Given the description of an element on the screen output the (x, y) to click on. 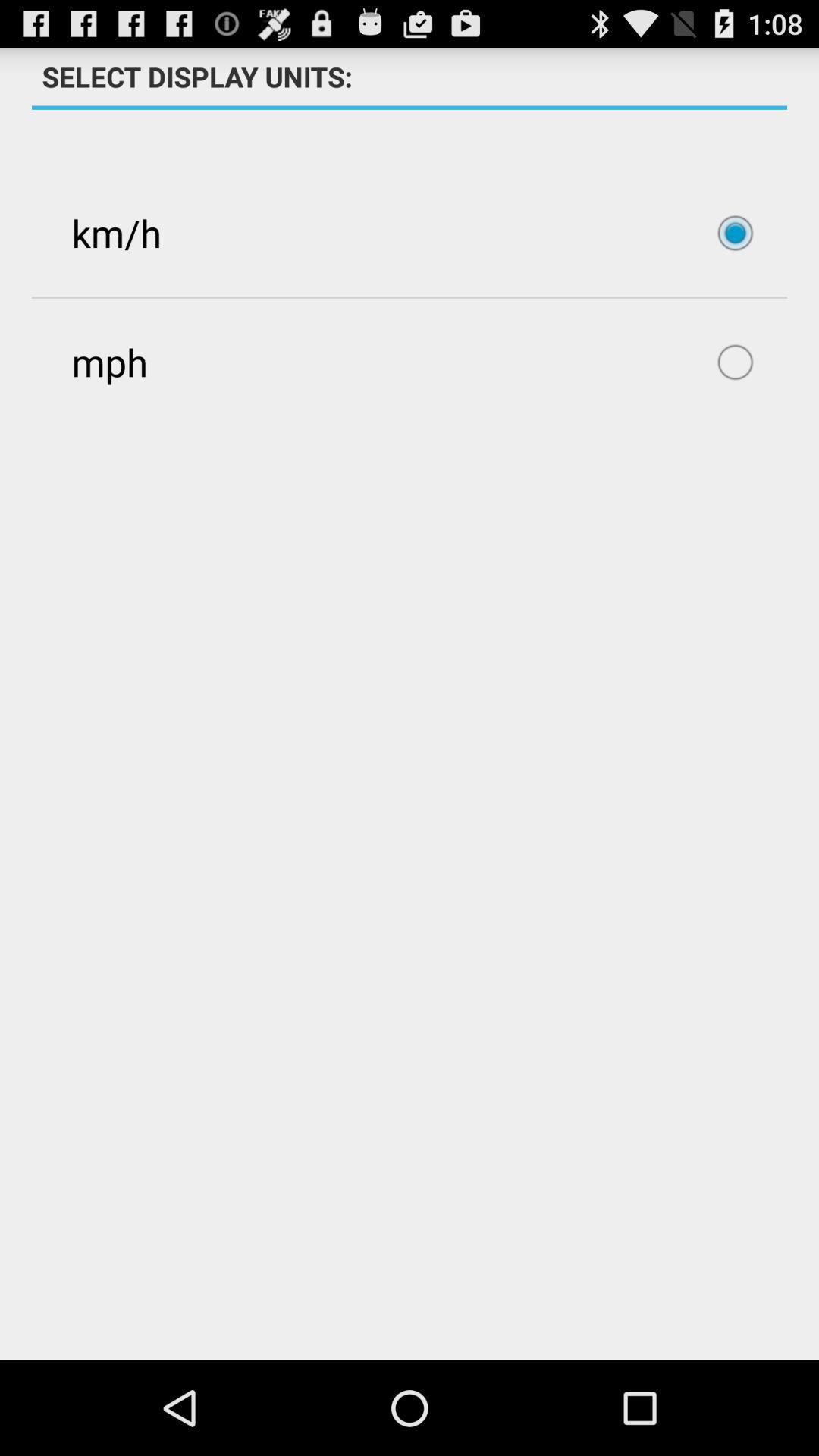
open item above mph item (409, 232)
